Given the description of an element on the screen output the (x, y) to click on. 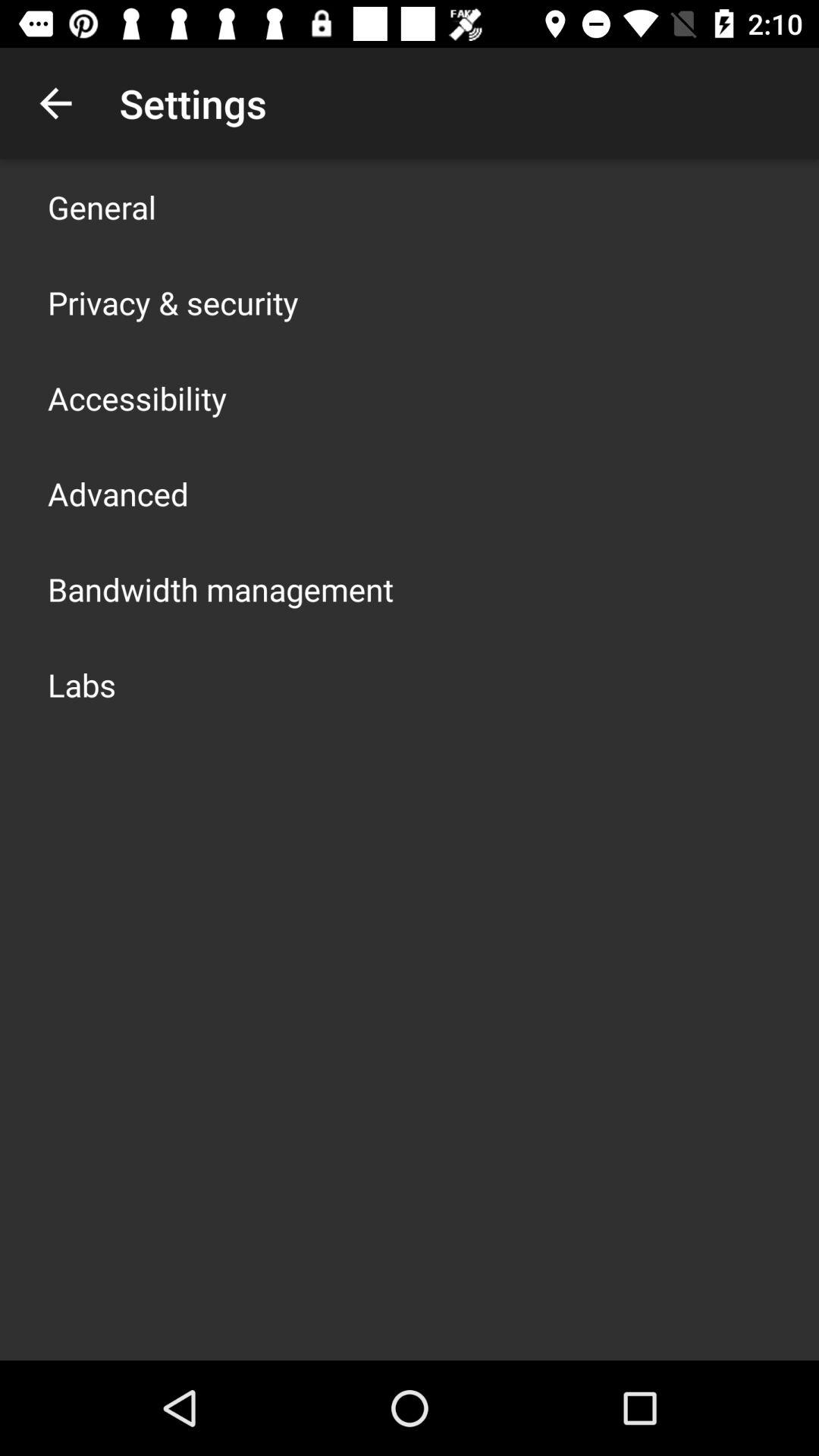
select icon above advanced icon (136, 397)
